Given the description of an element on the screen output the (x, y) to click on. 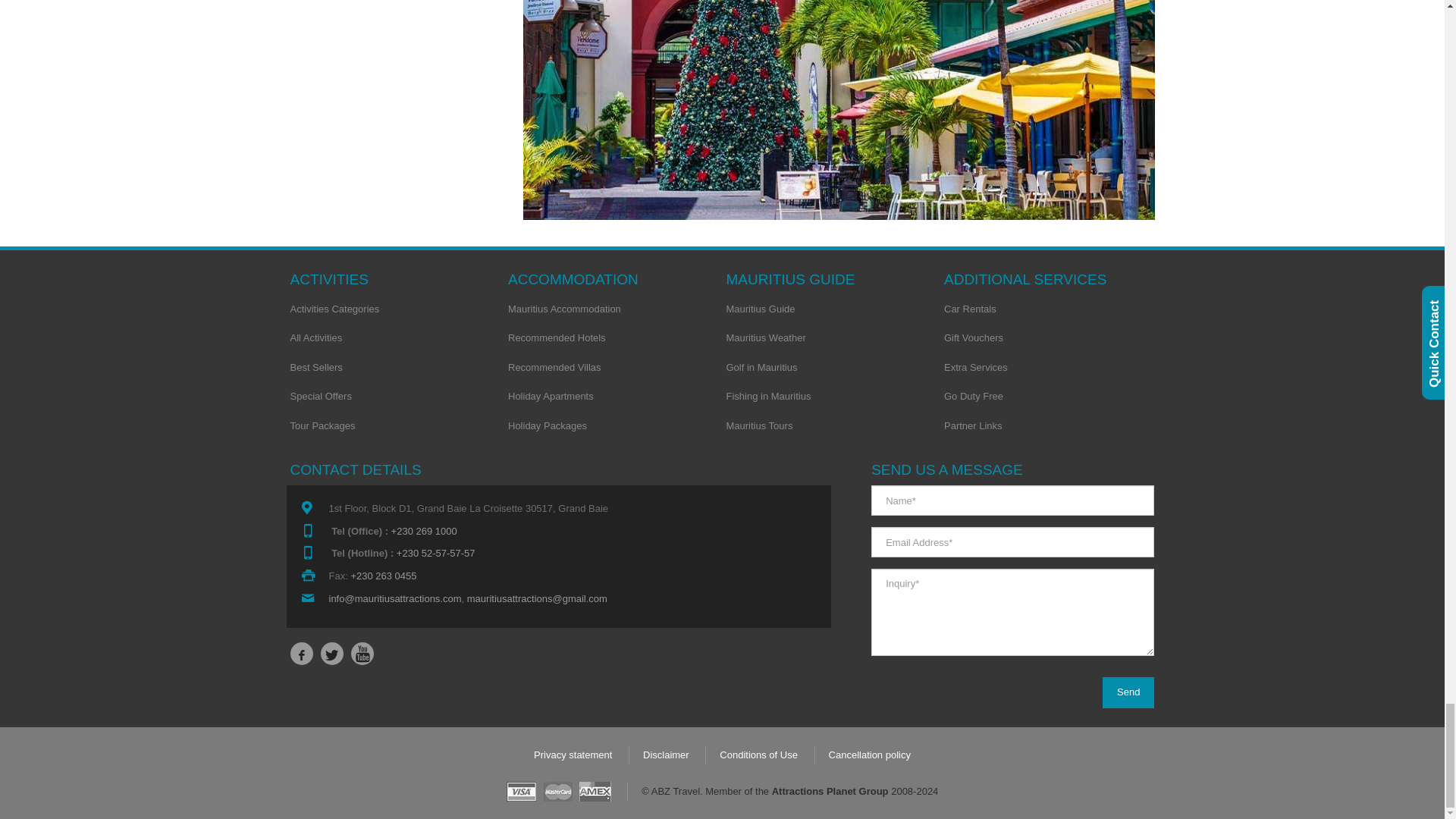
Send (1128, 692)
